Given the description of an element on the screen output the (x, y) to click on. 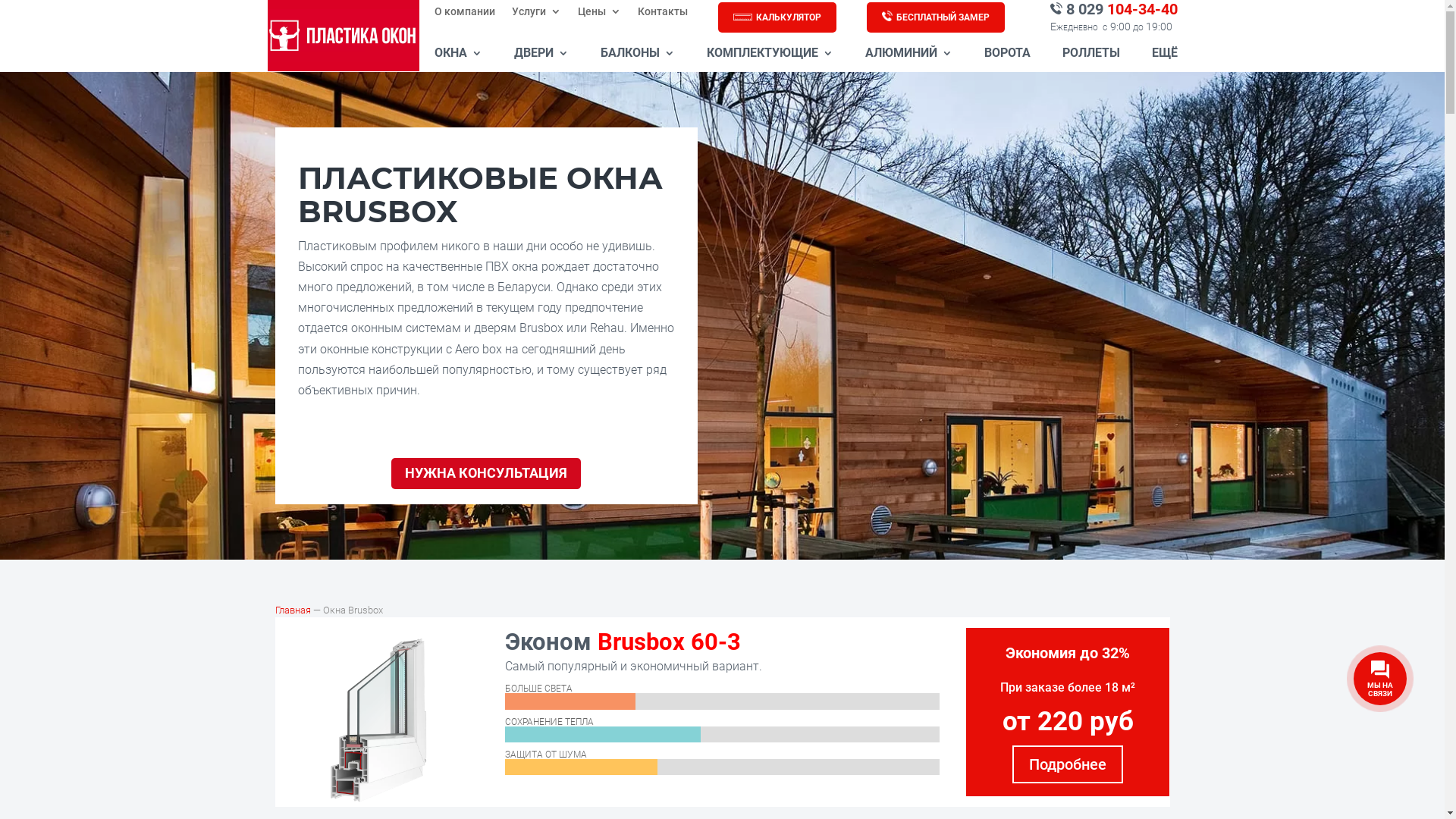
logo-prozrachnyj-fon-300x225 Element type: hover (342, 35)
8 029 104-34-40 Element type: text (1112, 9)
